Given the description of an element on the screen output the (x, y) to click on. 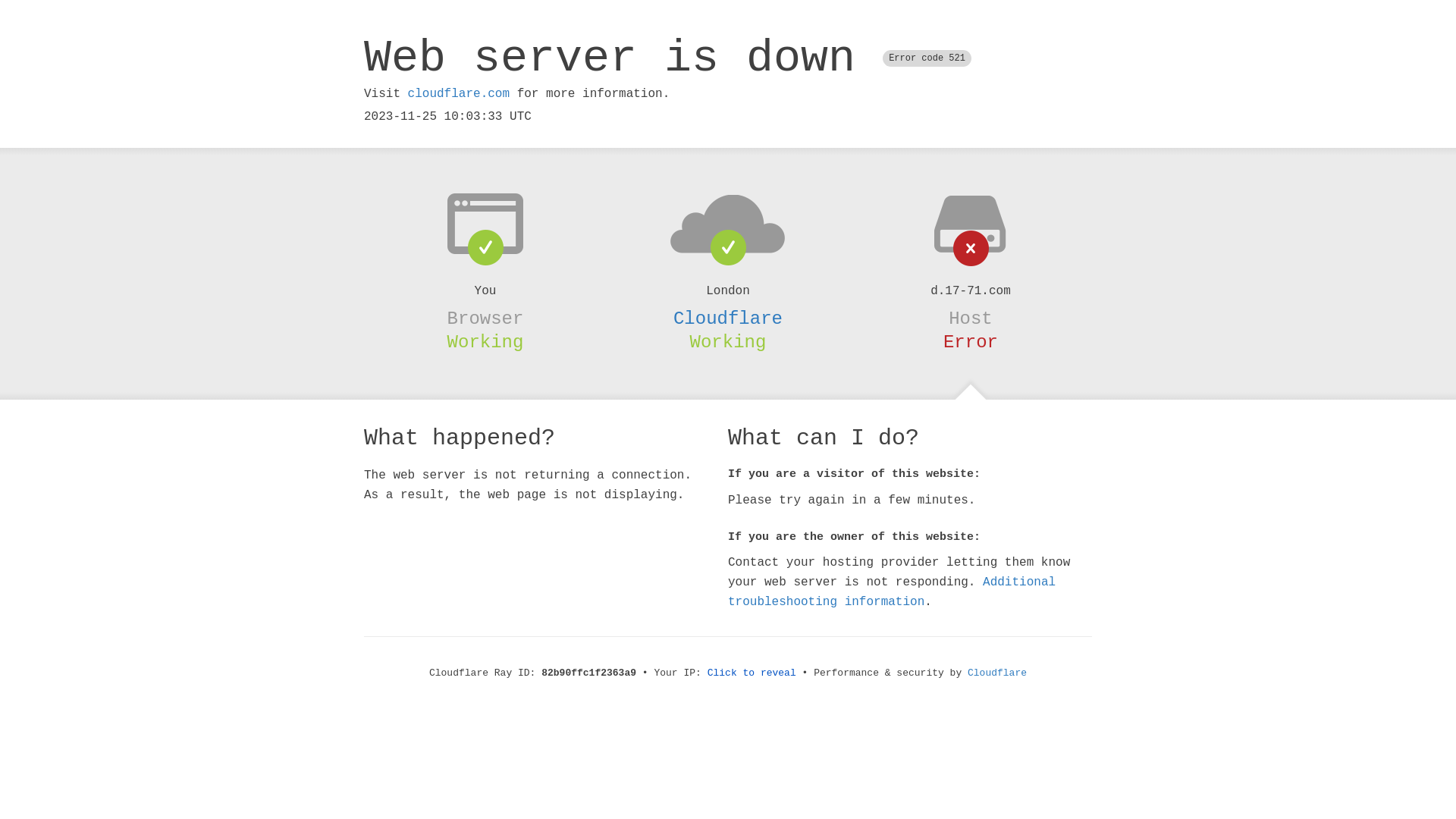
Cloudflare Element type: text (996, 672)
Click to reveal Element type: text (751, 672)
Cloudflare Element type: text (727, 318)
Additional troubleshooting information Element type: text (891, 591)
cloudflare.com Element type: text (458, 93)
